Given the description of an element on the screen output the (x, y) to click on. 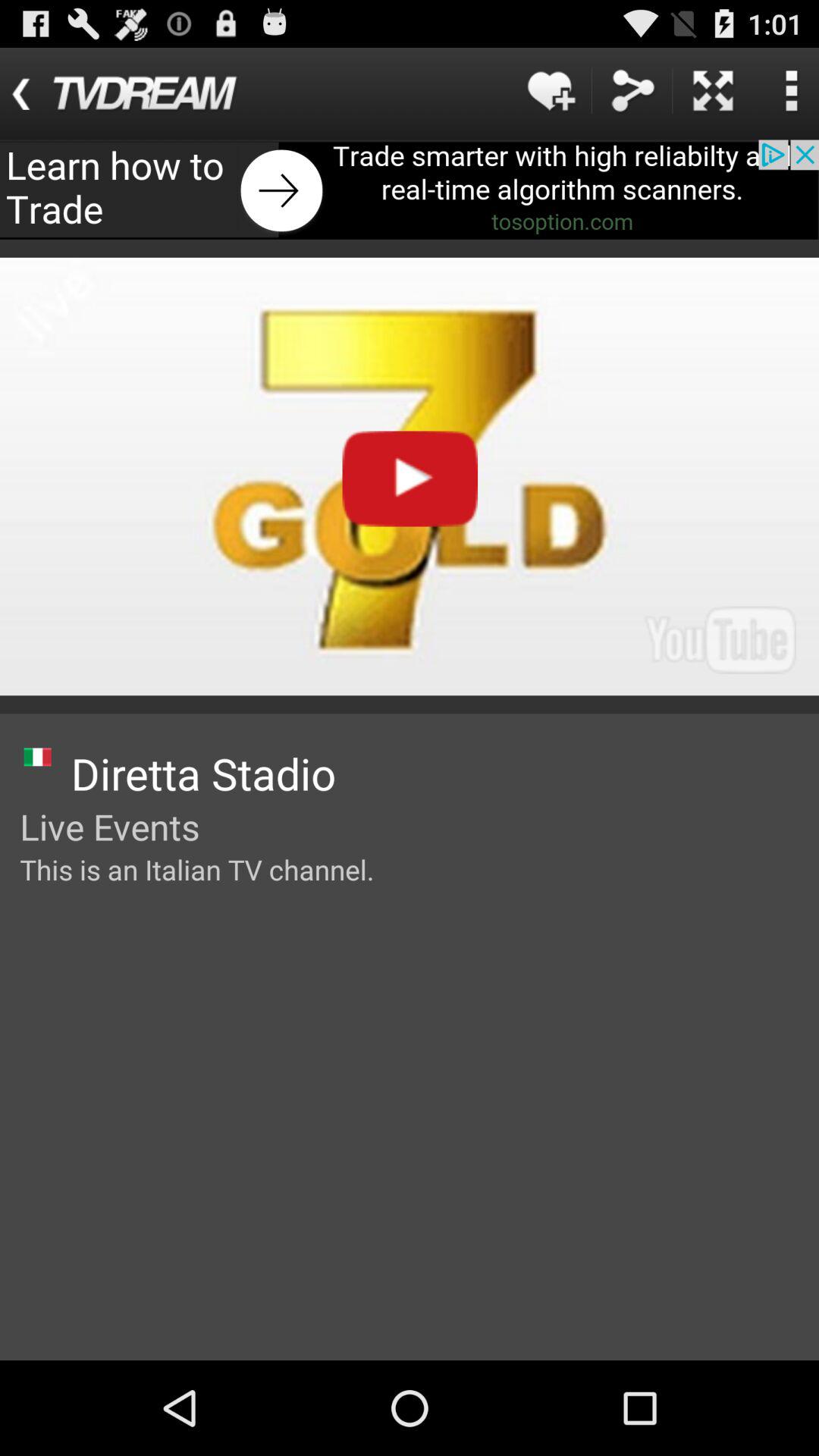
advertising pop up banner (409, 189)
